Given the description of an element on the screen output the (x, y) to click on. 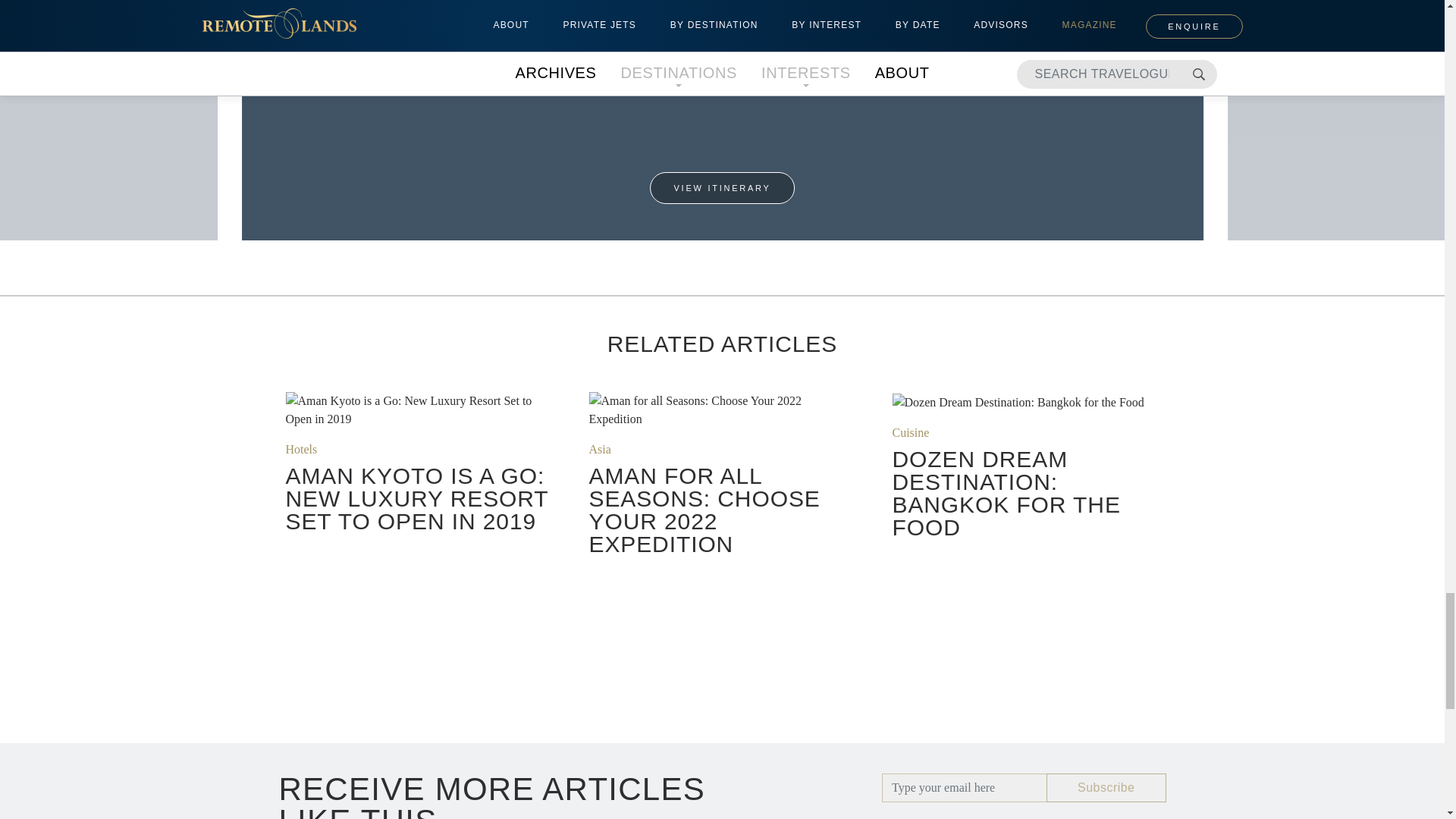
Subscribe (1106, 787)
